Given the description of an element on the screen output the (x, y) to click on. 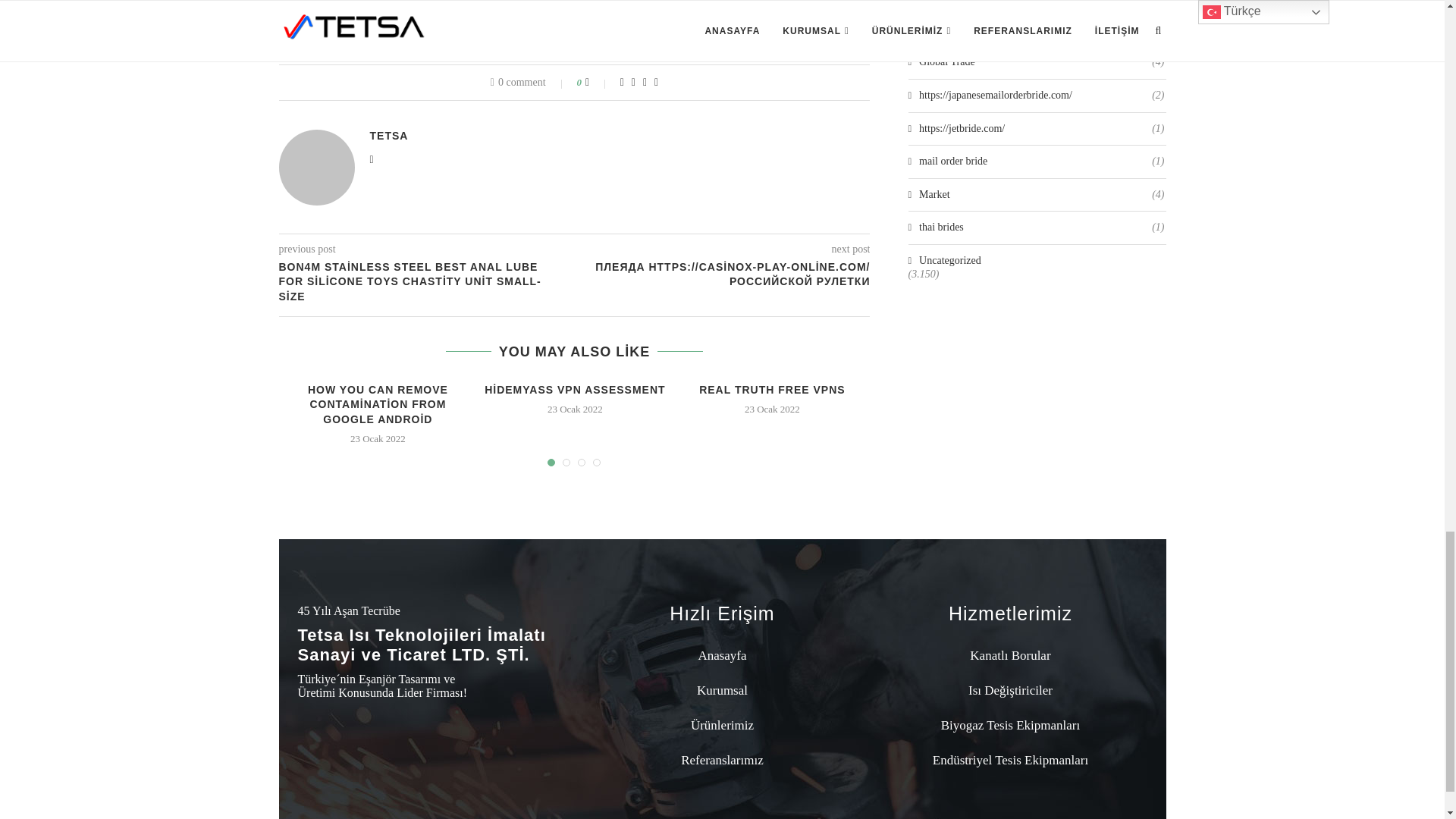
Like (597, 82)
